Given the description of an element on the screen output the (x, y) to click on. 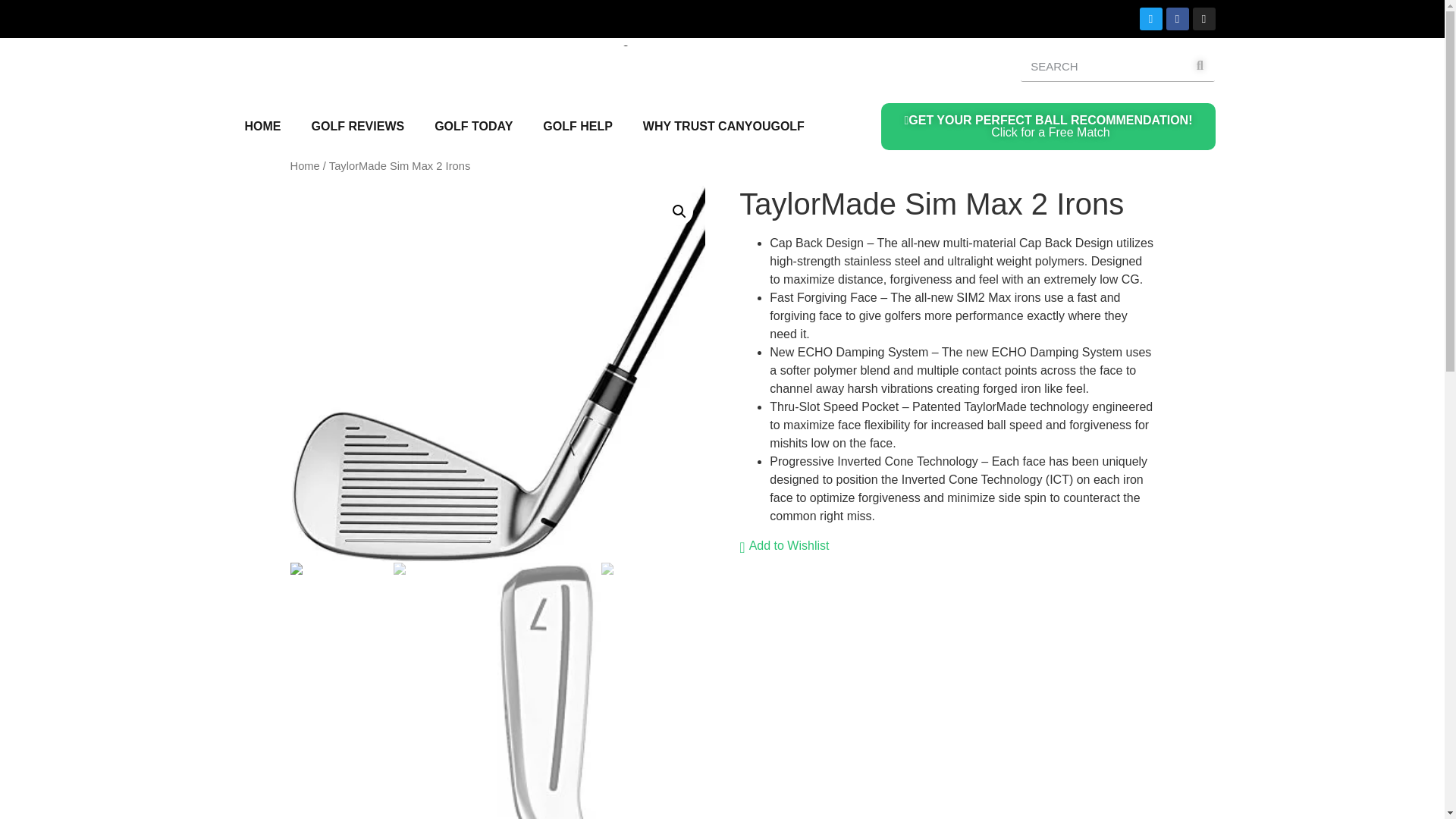
Home (303, 165)
WHY TRUST CANYOUGOLF (723, 126)
GOLF REVIEWS (357, 126)
GOLF TODAY (1047, 126)
GOLF HELP (473, 126)
HOME (577, 126)
